Given the description of an element on the screen output the (x, y) to click on. 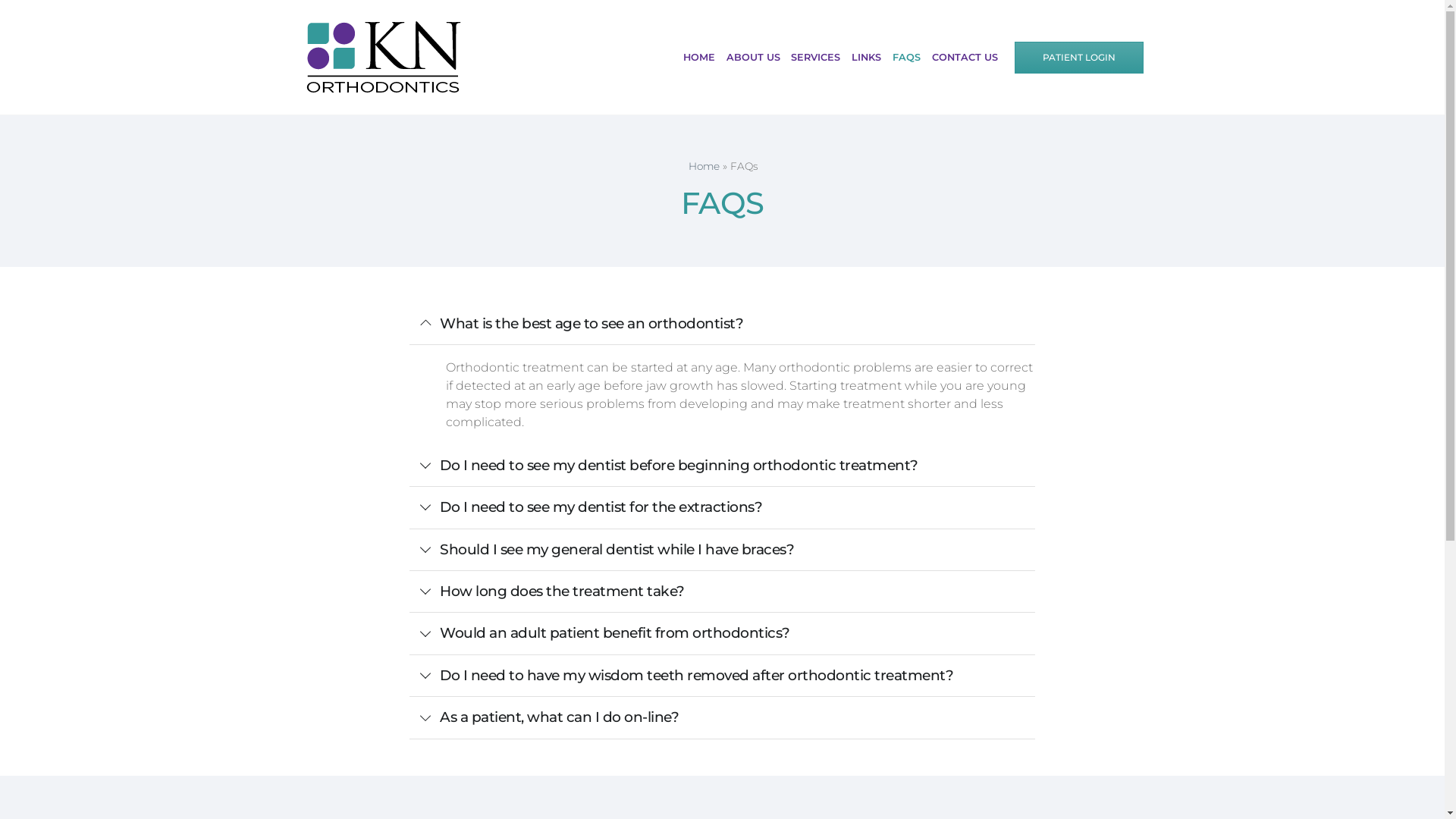
ABOUT US Element type: text (752, 57)
HOME Element type: text (698, 57)
SERVICES Element type: text (815, 57)
CONTACT US Element type: text (964, 57)
Do I need to see my dentist for the extractions? Element type: text (722, 506)
LINKS Element type: text (866, 57)
What is the best age to see an orthodontist? Element type: text (722, 323)
As a patient, what can I do on-line? Element type: text (722, 716)
PATIENT LOGIN Element type: text (1078, 57)
Would an adult patient benefit from orthodontics? Element type: text (722, 632)
How long does the treatment take? Element type: text (722, 591)
FAQS Element type: text (906, 57)
Should I see my general dentist while I have braces? Element type: text (722, 549)
Home Element type: text (703, 166)
